Given the description of an element on the screen output the (x, y) to click on. 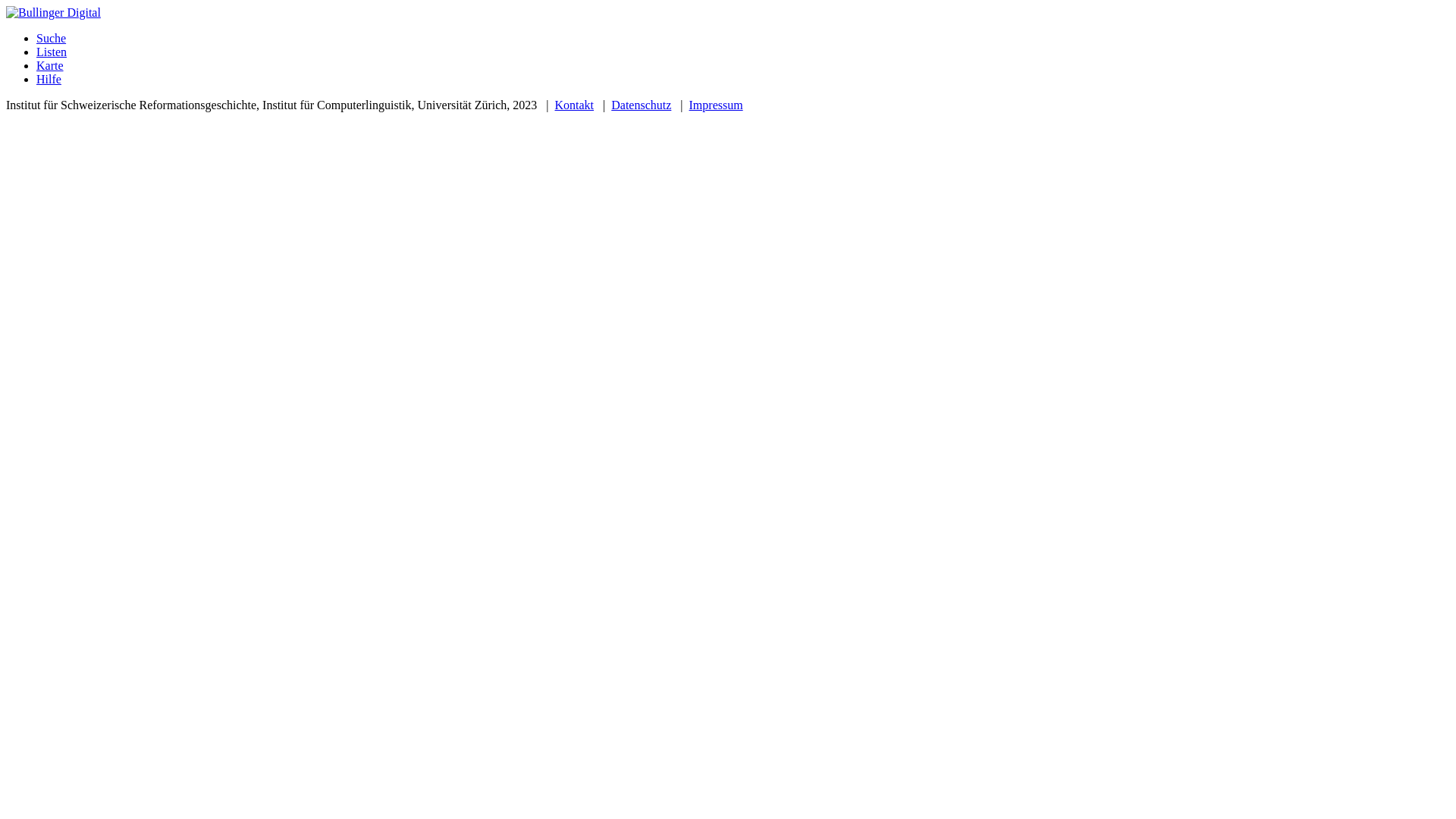
Karte Element type: text (742, 65)
Listen Element type: text (742, 52)
Kontakt Element type: text (574, 104)
Bullinger Digital Element type: hover (53, 12)
Hilfe Element type: text (742, 79)
Datenschutz Element type: text (641, 104)
Suche Element type: text (742, 38)
Impressum Element type: text (716, 104)
